Given the description of an element on the screen output the (x, y) to click on. 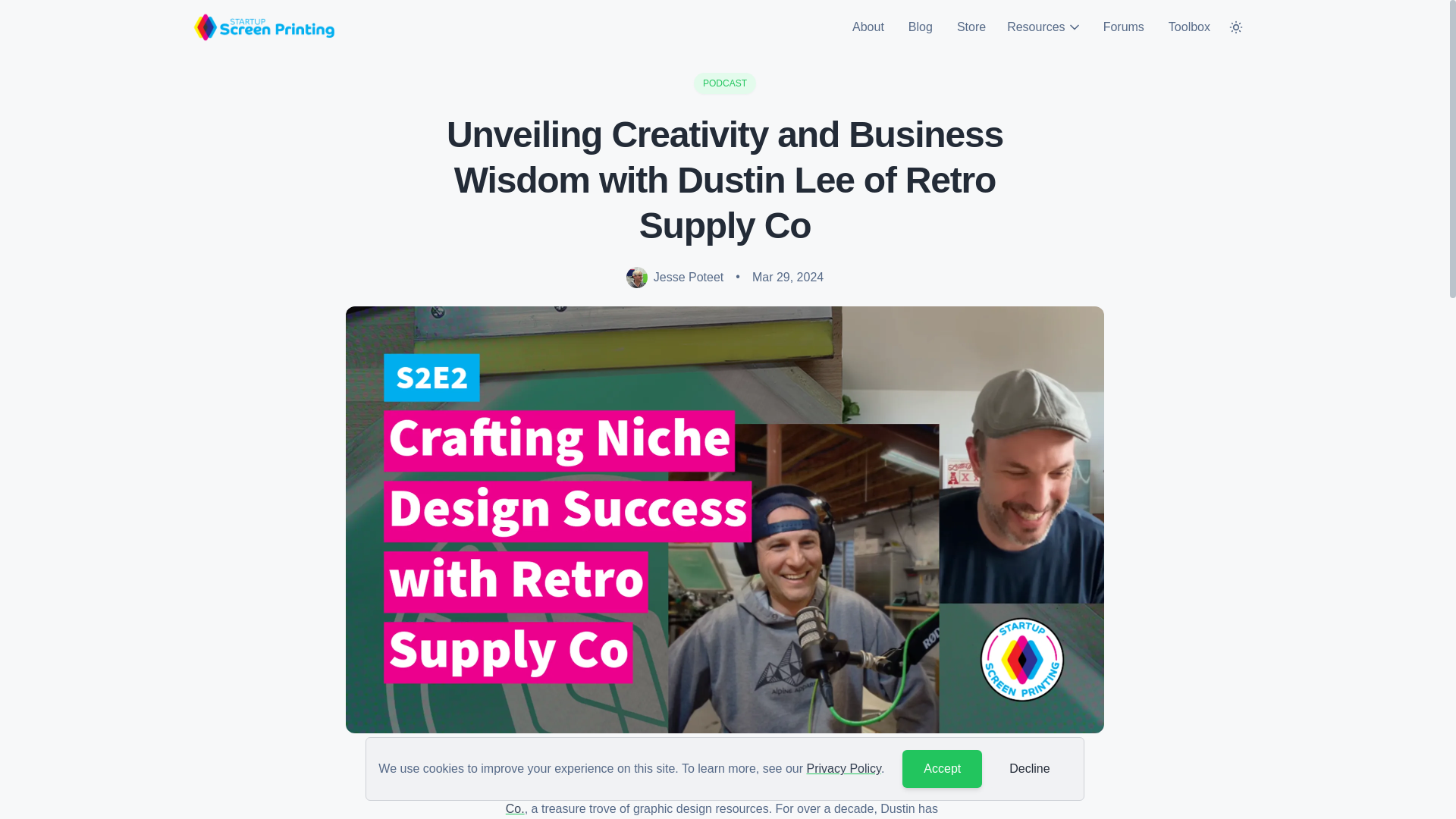
Store (970, 26)
About (868, 26)
Privacy Policy (843, 768)
Decline (1029, 768)
Blog (920, 26)
Resources (1043, 26)
Accept (941, 768)
Retro Supply Co. (719, 798)
captivating interview (604, 789)
PODCAST (724, 83)
Forums (1123, 26)
Toolbox (1189, 26)
